Given the description of an element on the screen output the (x, y) to click on. 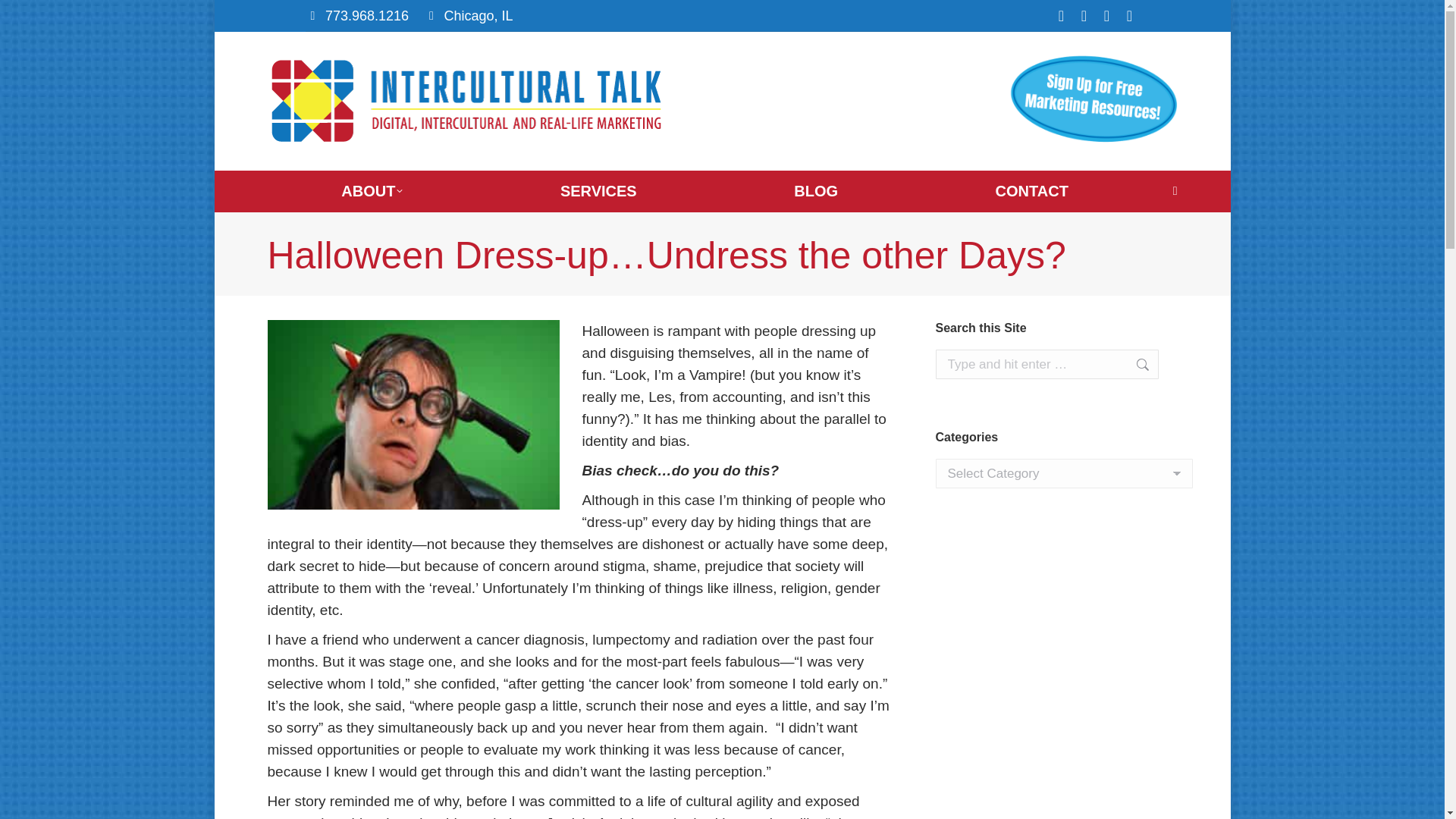
Go! (24, 16)
Twitter page opens in new window (1084, 15)
773.968.1216 (366, 15)
SERVICES (598, 190)
ABOUT (371, 190)
Go! (1134, 364)
YouTube page opens in new window (1106, 15)
Twitter page opens in new window (1084, 15)
CONTACT (1031, 190)
Go! (1134, 364)
